Given the description of an element on the screen output the (x, y) to click on. 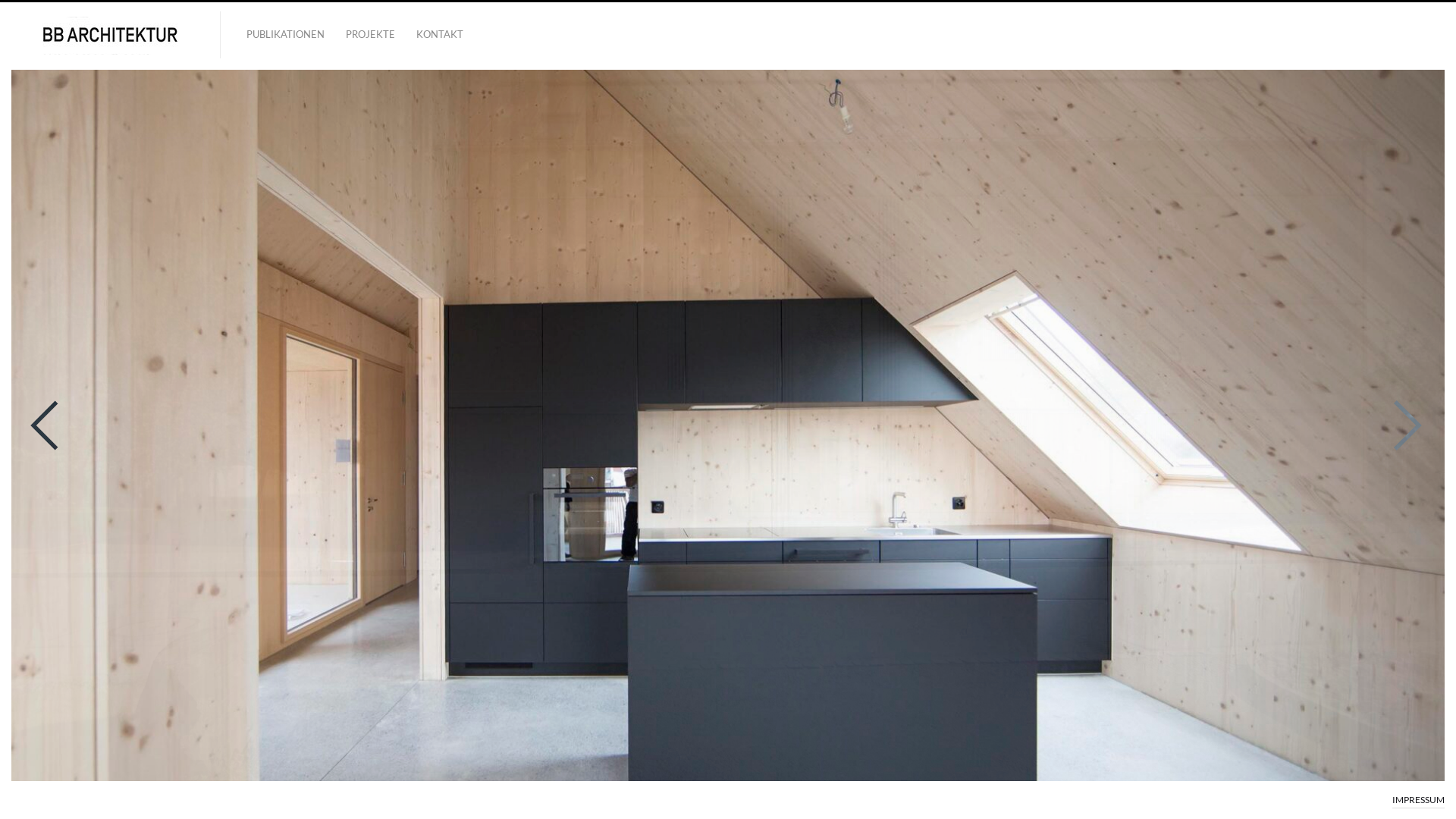
PROJEKTE Element type: text (370, 35)
IMPRESSUM Element type: text (1418, 797)
KONTAKT Element type: text (439, 35)
Next Element type: text (1407, 425)
PUBLIKATIONEN Element type: text (285, 35)
bb architektur Element type: hover (109, 35)
Previous Element type: text (44, 425)
